Given the description of an element on the screen output the (x, y) to click on. 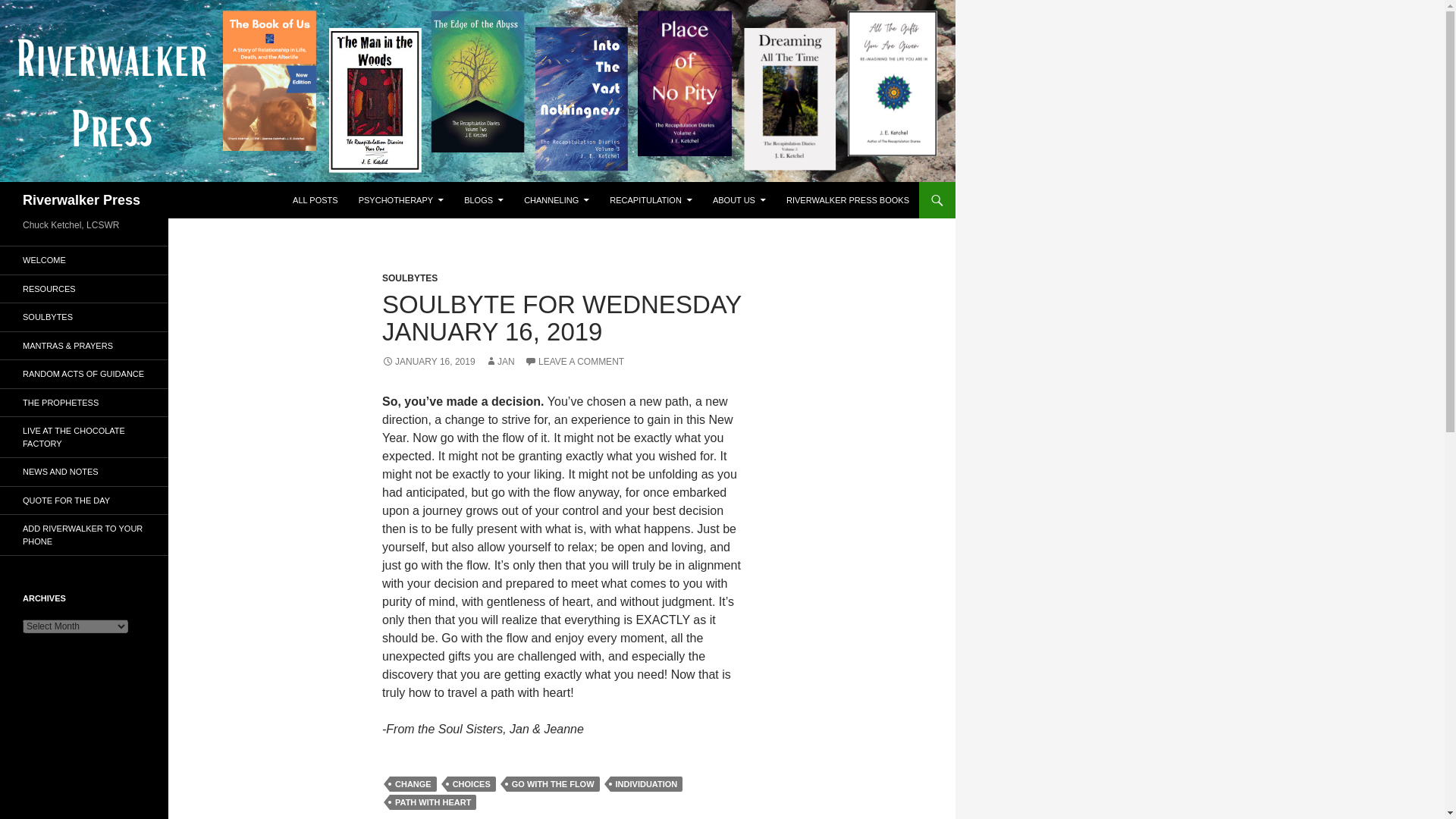
Riverwalker Press (81, 199)
ALL POSTS (315, 199)
PATH WITH HEART (433, 801)
LEAVE A COMMENT (574, 361)
All Posts (315, 199)
RECAPITULATION (650, 199)
RIVERWALKER PRESS BOOKS (847, 199)
GO WITH THE FLOW (552, 783)
ABOUT US (738, 199)
